Given the description of an element on the screen output the (x, y) to click on. 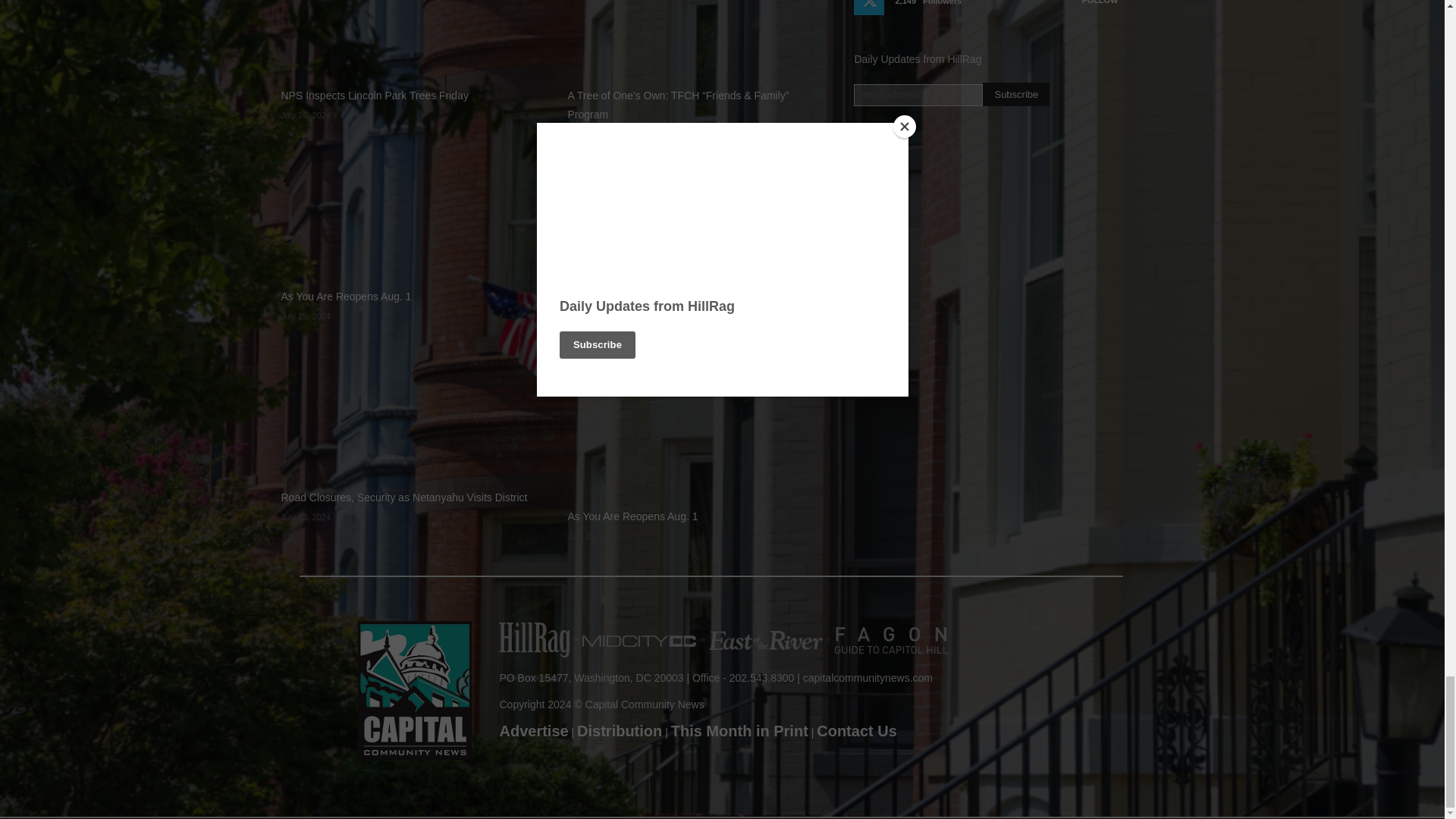
Subscribe (1015, 94)
